Given the description of an element on the screen output the (x, y) to click on. 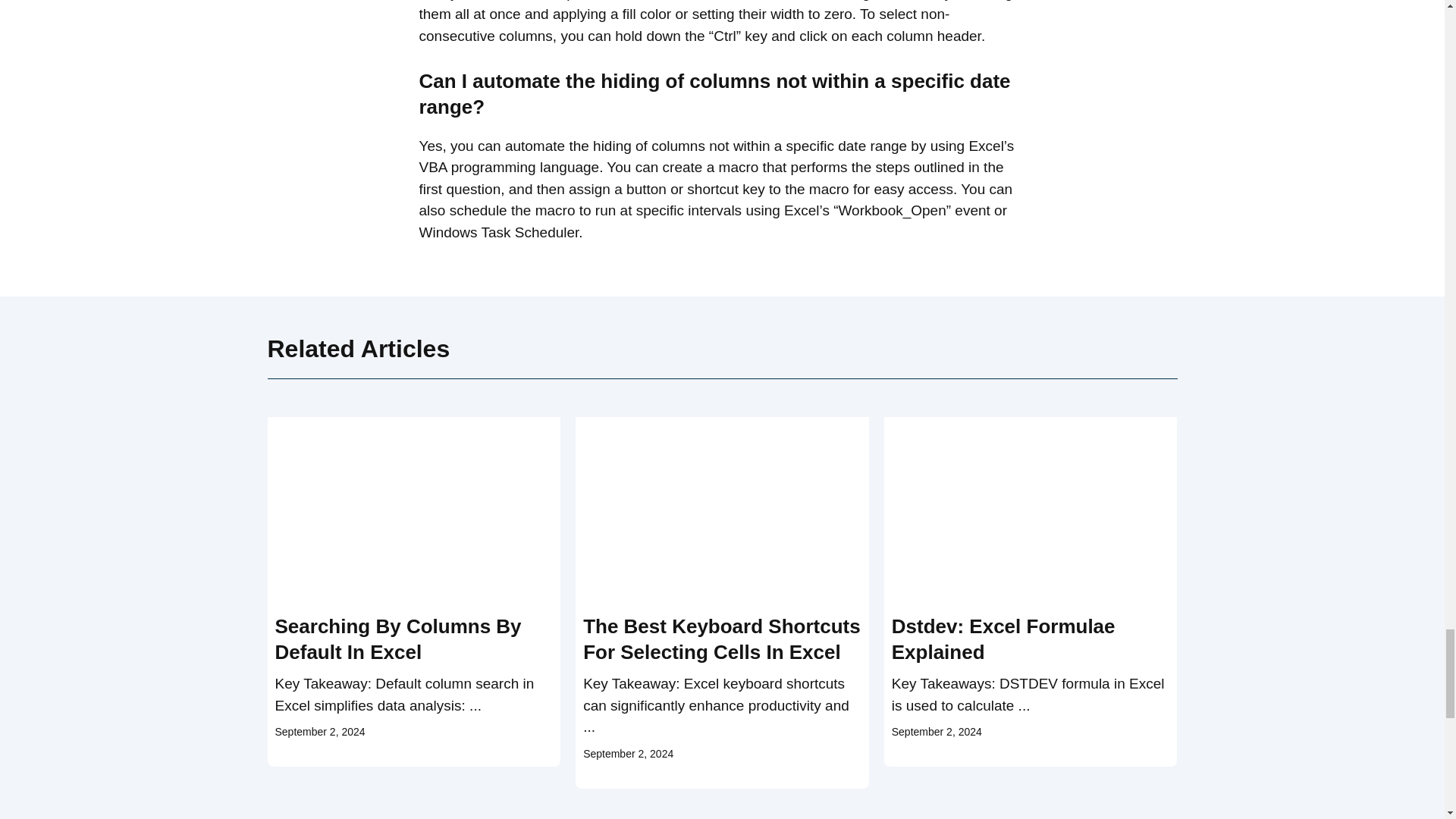
Dstdev: Excel Formulae Explained (1003, 639)
Searching By Columns By Default In Excel (398, 639)
The Best Keyboard Shortcuts For Selecting Cells In Excel (721, 639)
